Given the description of an element on the screen output the (x, y) to click on. 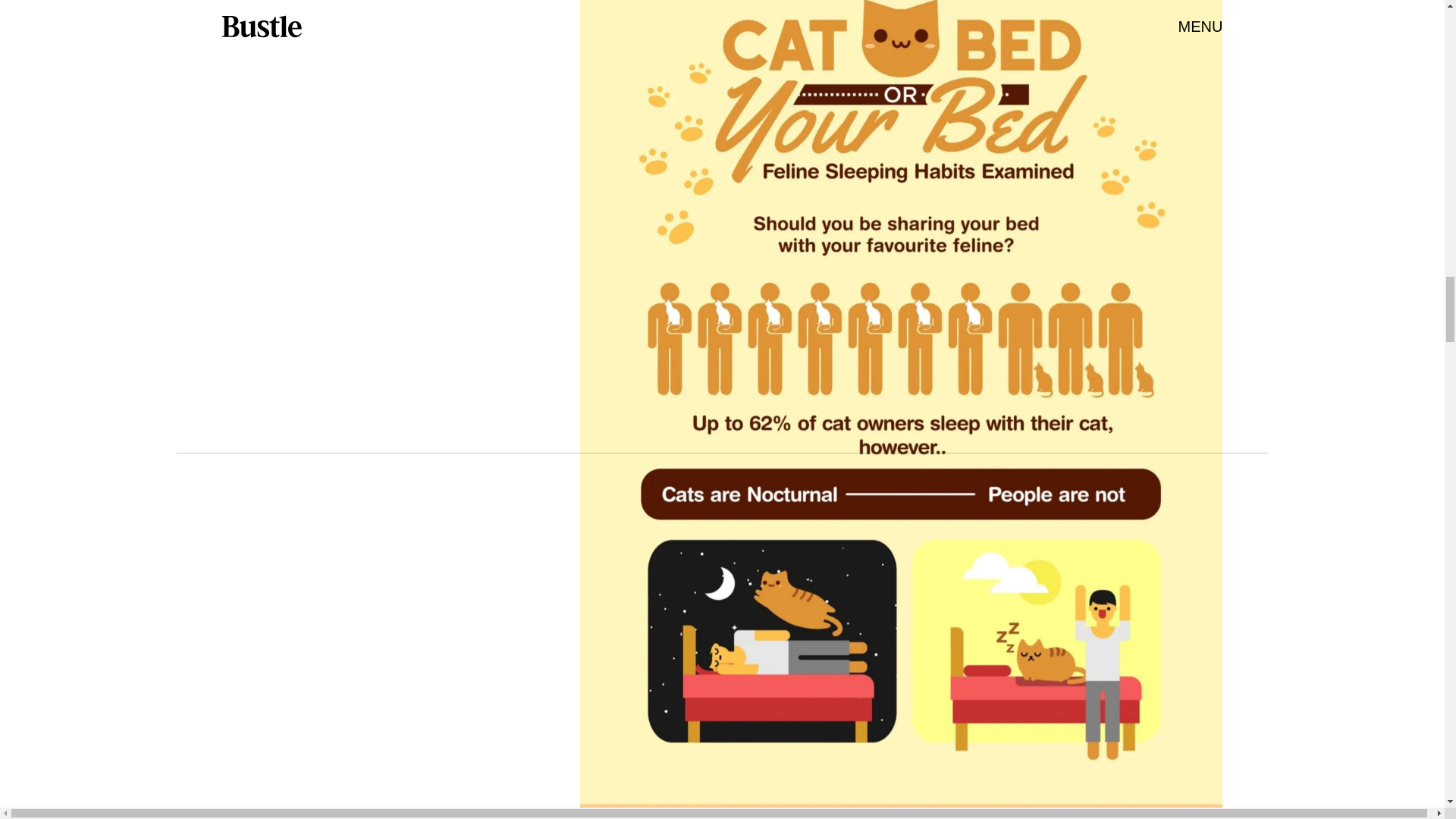
Terry's Fabrics (733, 370)
